Given the description of an element on the screen output the (x, y) to click on. 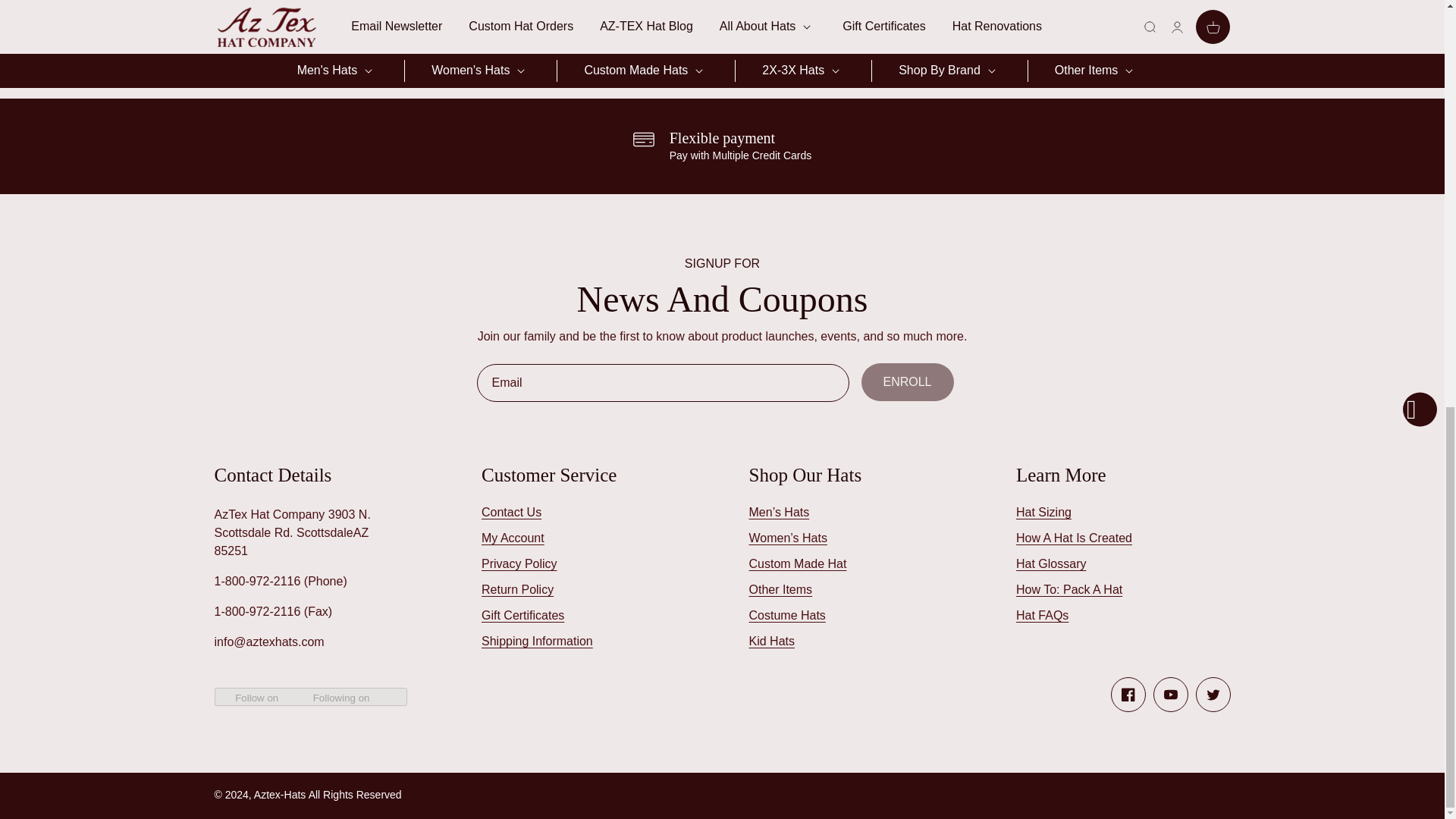
tel:1-800-972-2116 (256, 581)
tel:1-800-972-2116 (256, 611)
